Given the description of an element on the screen output the (x, y) to click on. 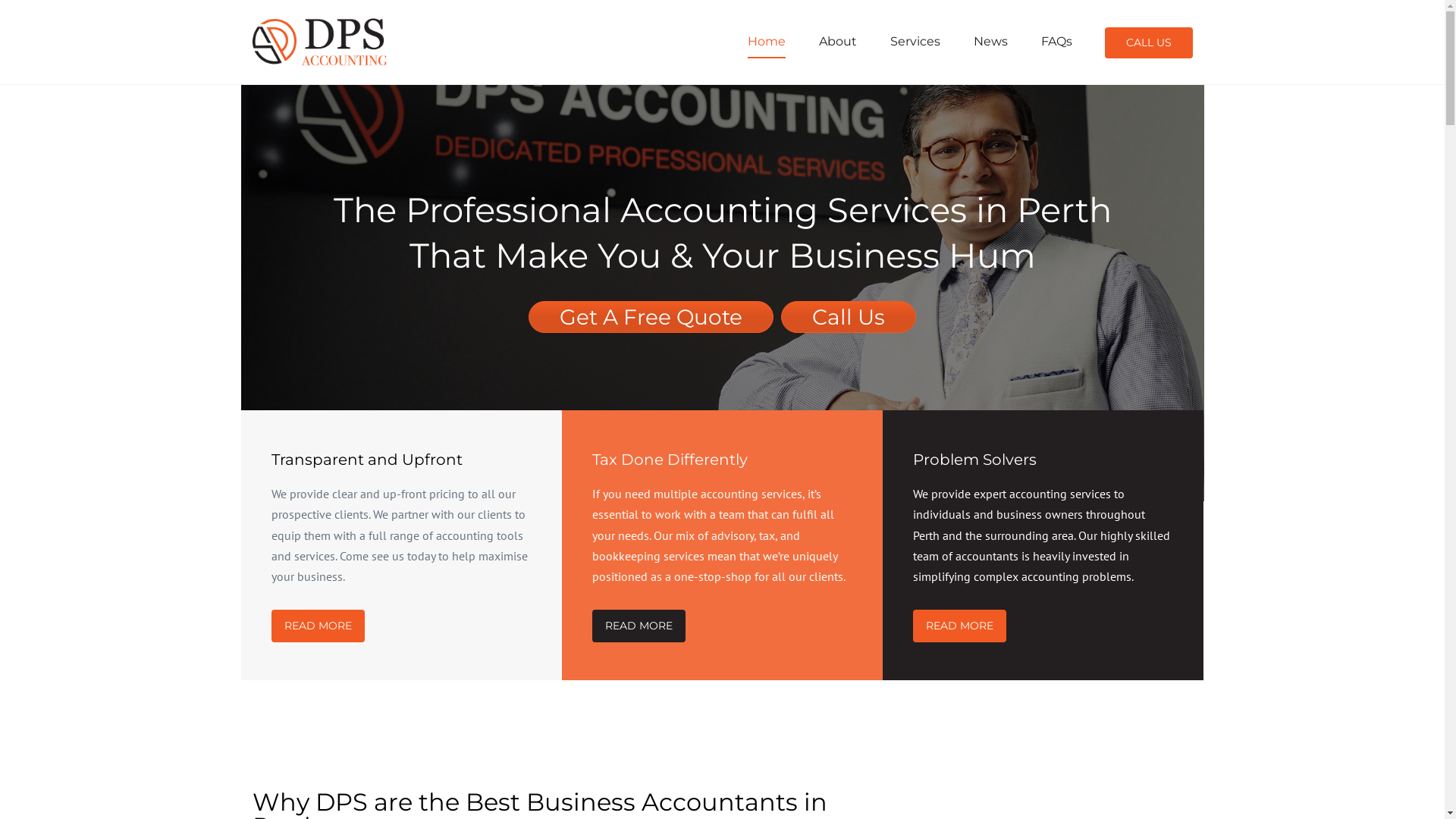
Get A Free Quote Element type: text (650, 316)
READ MORE Element type: text (959, 625)
READ MORE Element type: text (317, 625)
CALL US Element type: text (1148, 42)
Home Element type: text (766, 41)
FAQs Element type: text (1055, 41)
About Element type: text (837, 41)
Services Element type: text (914, 41)
READ MORE Element type: text (638, 625)
News Element type: text (990, 41)
Call Us Element type: text (848, 316)
